Given the description of an element on the screen output the (x, y) to click on. 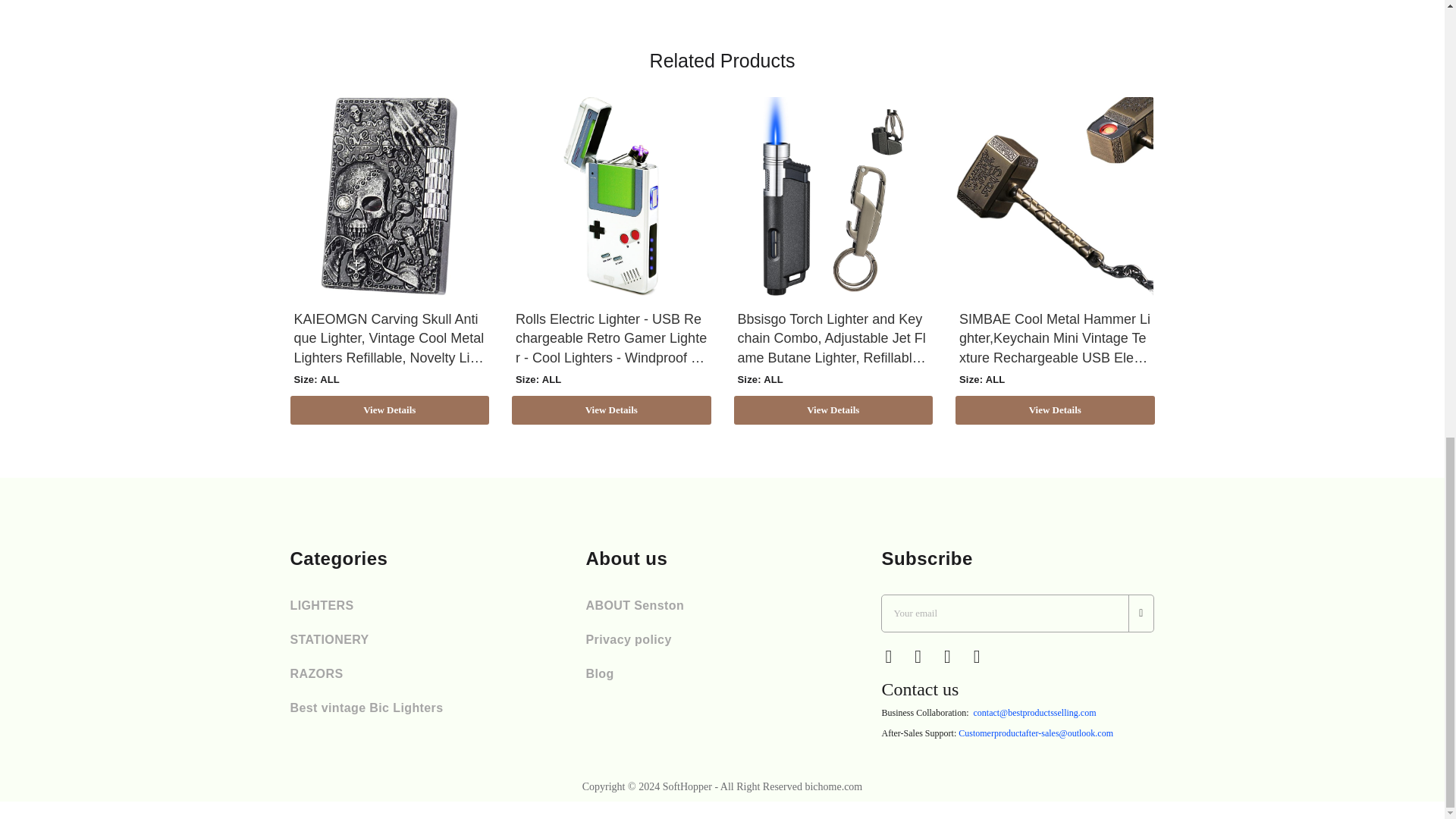
View Details (611, 410)
View Details (389, 410)
View Details (833, 410)
